Given the description of an element on the screen output the (x, y) to click on. 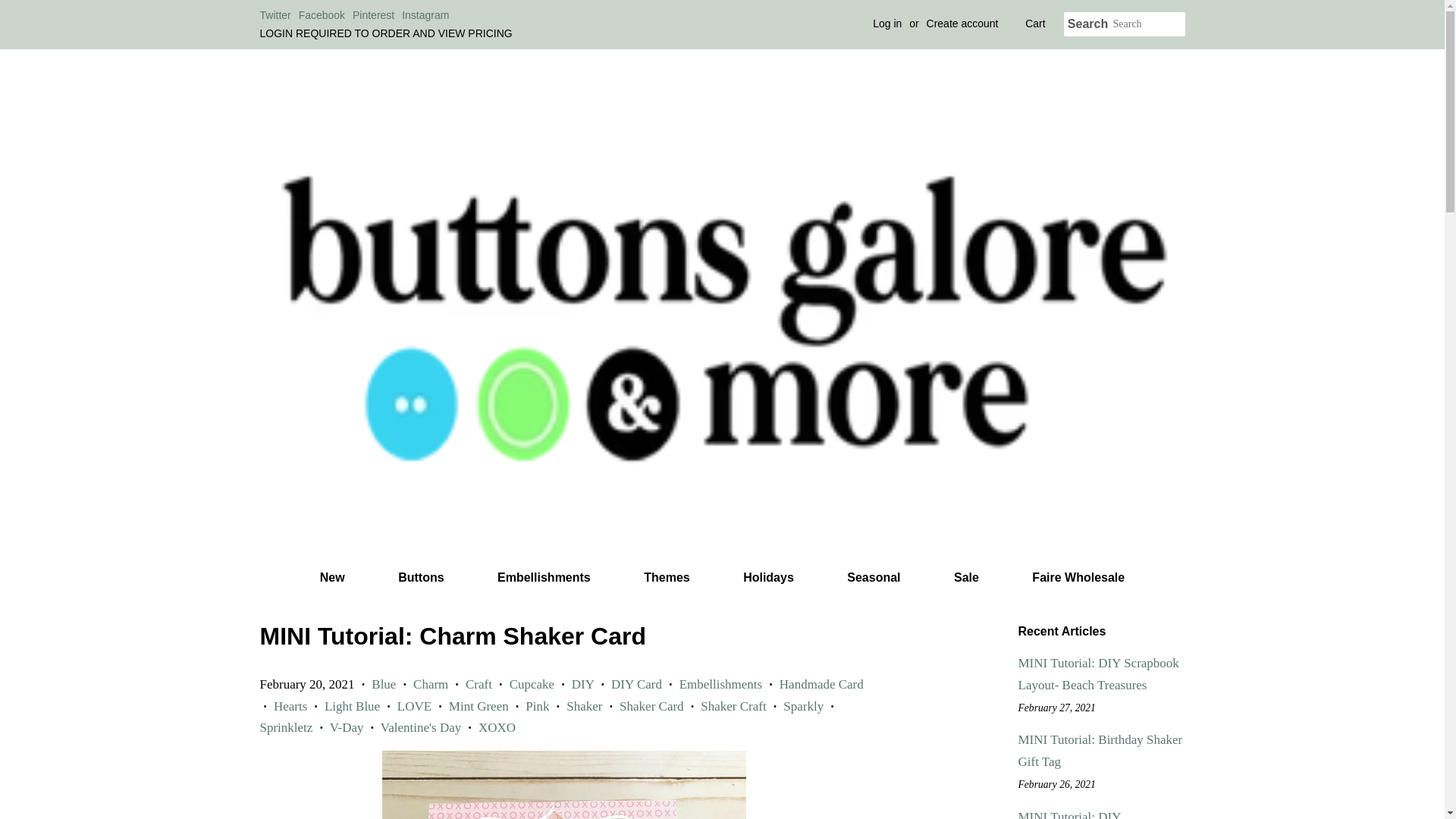
Instagram (424, 15)
Create account (962, 23)
Log in (886, 23)
Cart (1035, 24)
Pinterest (373, 15)
Buttons Galore Wholesale on Pinterest (373, 15)
Search (1087, 24)
Buttons Galore Wholesale on Facebook (321, 15)
Buttons Galore Wholesale on Twitter (274, 15)
Twitter (274, 15)
Buttons Galore Wholesale on Instagram (424, 15)
Facebook (321, 15)
